Given the description of an element on the screen output the (x, y) to click on. 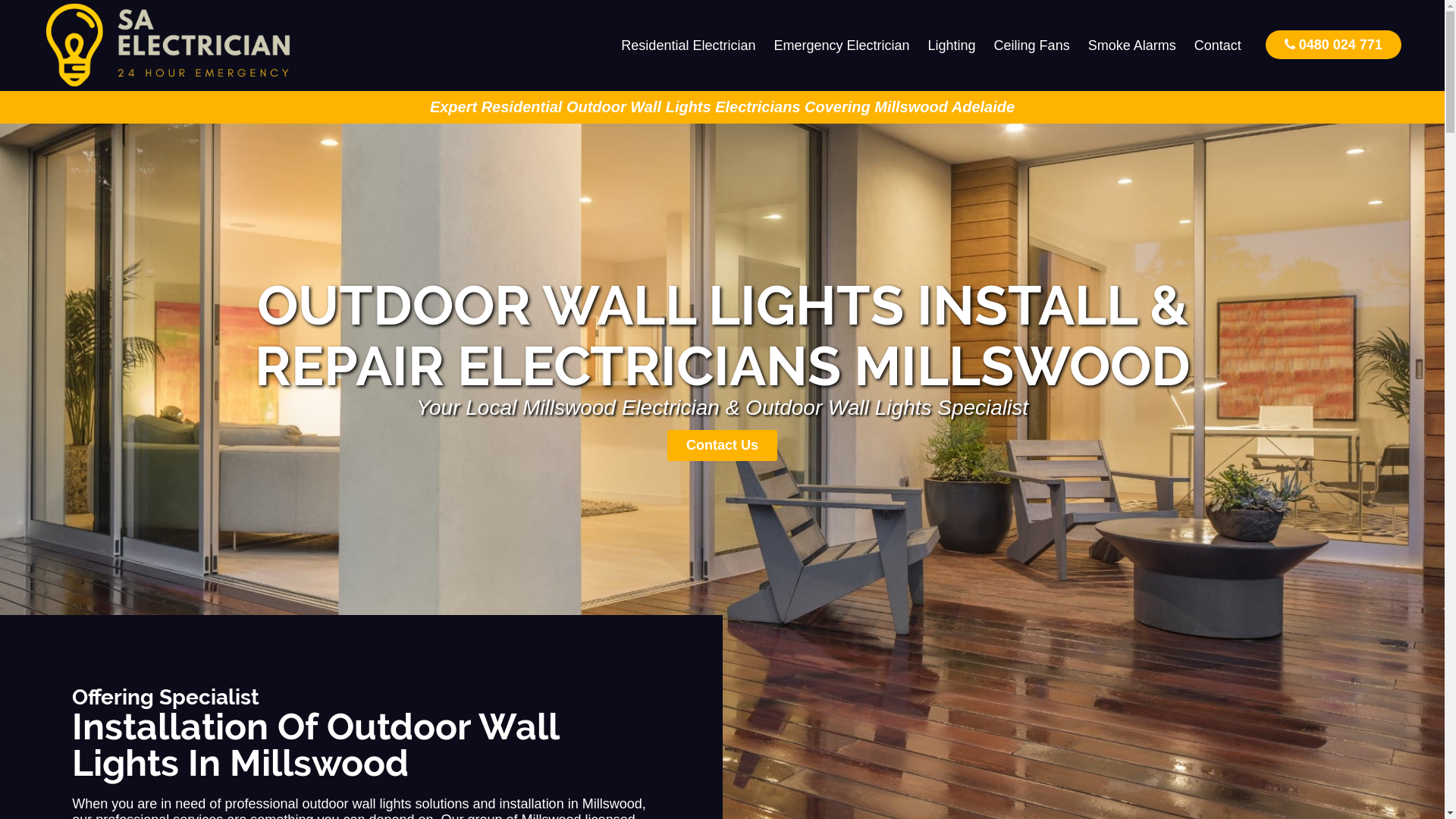
Smoke Alarms Element type: text (1132, 45)
Lighting Element type: text (952, 45)
Contact Us Element type: text (722, 445)
Residential Electrician Element type: text (687, 45)
Emergency Electrician Element type: text (841, 45)
Contact Element type: text (1217, 45)
0480 024 771 Element type: text (1333, 44)
Ceiling Fans Element type: text (1032, 45)
